Given the description of an element on the screen output the (x, y) to click on. 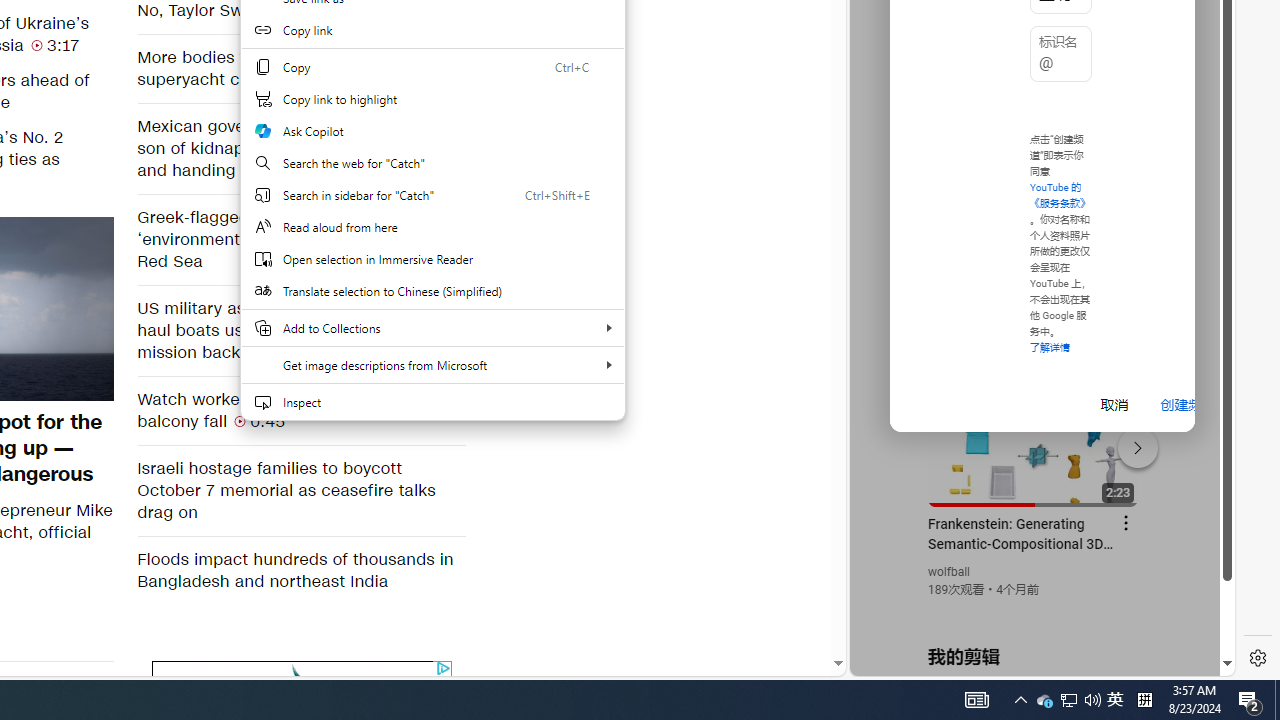
Open selection in Immersive Reader (432, 259)
Actions for this site (1131, 443)
Read aloud from here (432, 226)
Copy (432, 66)
Get image descriptions from Microsoft (432, 364)
Search in sidebar for "Catch" (432, 194)
Copy link (432, 29)
Add to Collections (432, 327)
#you (1034, 439)
Class: dict_pnIcon rms_img (1028, 660)
AutomationID: brandFlyLogo (302, 676)
